Given the description of an element on the screen output the (x, y) to click on. 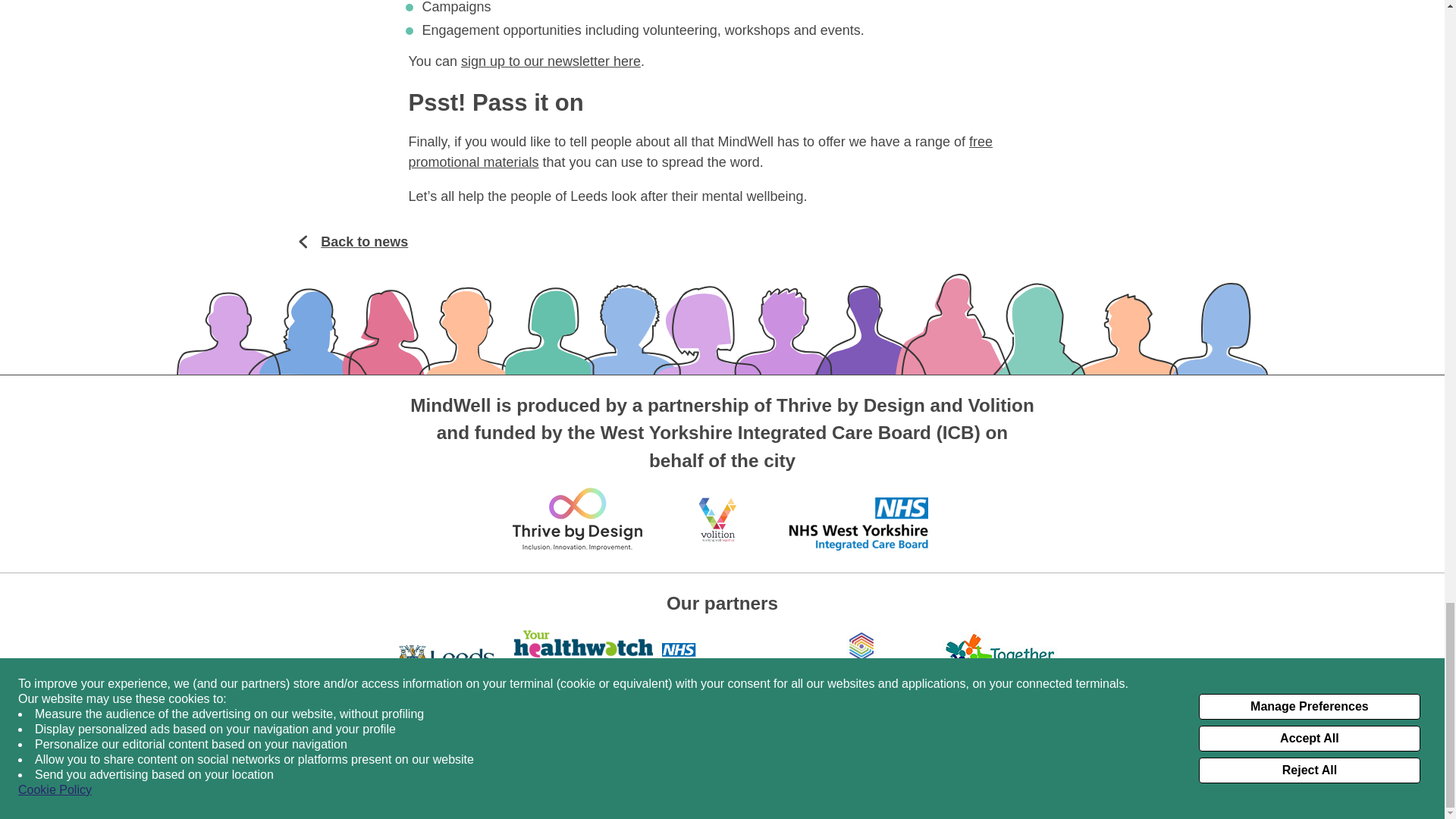
Terms of Use (1246, 769)
About MindWell (213, 741)
Finding support in Leeds (726, 760)
sign up to our newsletter here (550, 61)
Back to news (352, 241)
Cookie Policy (1077, 769)
Privacy Policy (1161, 769)
Accessibility (449, 721)
Need urgent help? (710, 741)
Get in touch (204, 760)
